Given the description of an element on the screen output the (x, y) to click on. 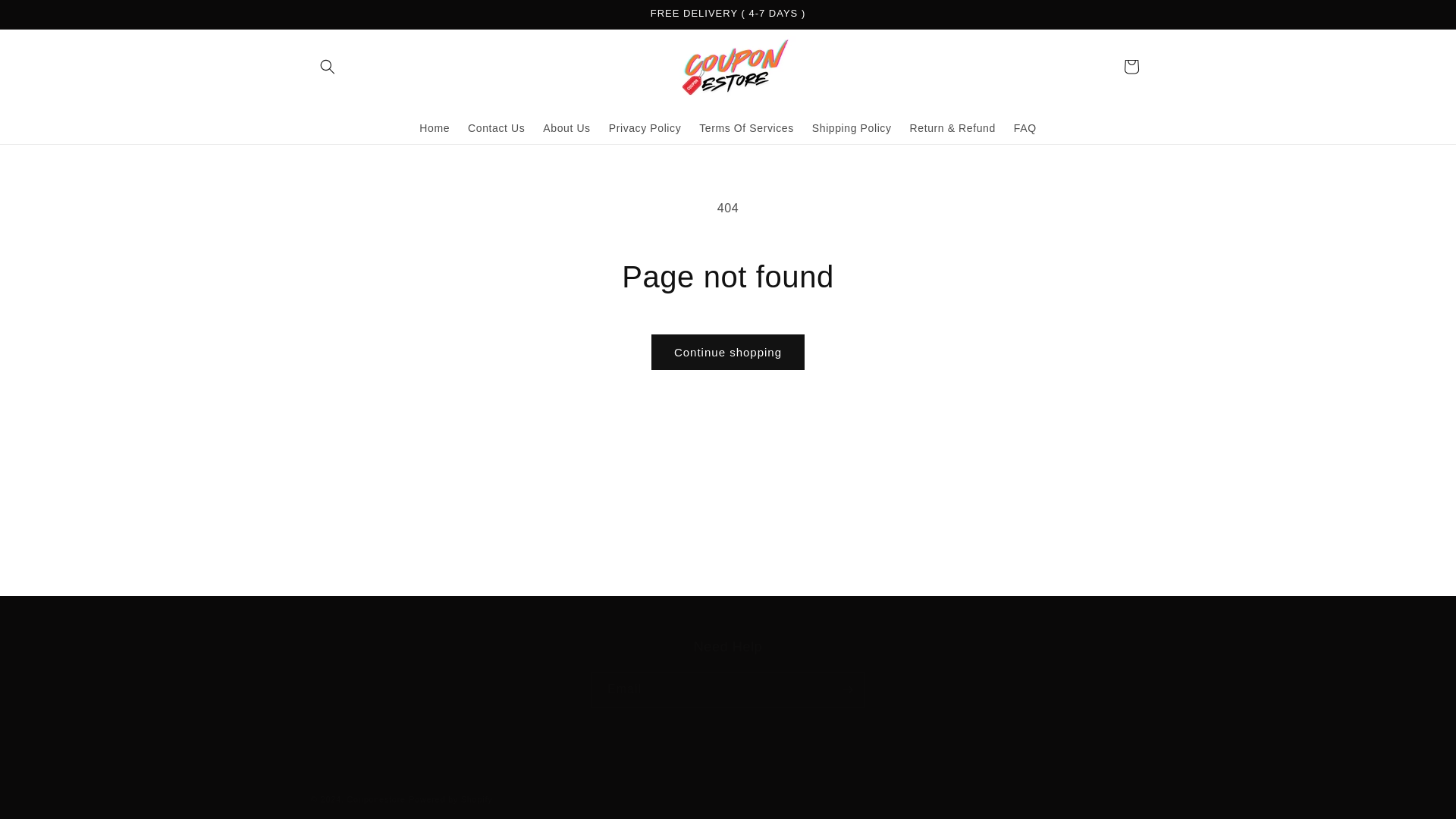
Skip to content (45, 17)
Terms Of Services (746, 128)
Continue shopping (727, 352)
Privacy Policy (644, 128)
FAQ (1024, 128)
Shipping Policy (852, 128)
Contact Us (727, 672)
About Us (496, 128)
Powered by Shopify (566, 128)
Couponestore (450, 798)
Home (376, 798)
Cart (434, 128)
